Given the description of an element on the screen output the (x, y) to click on. 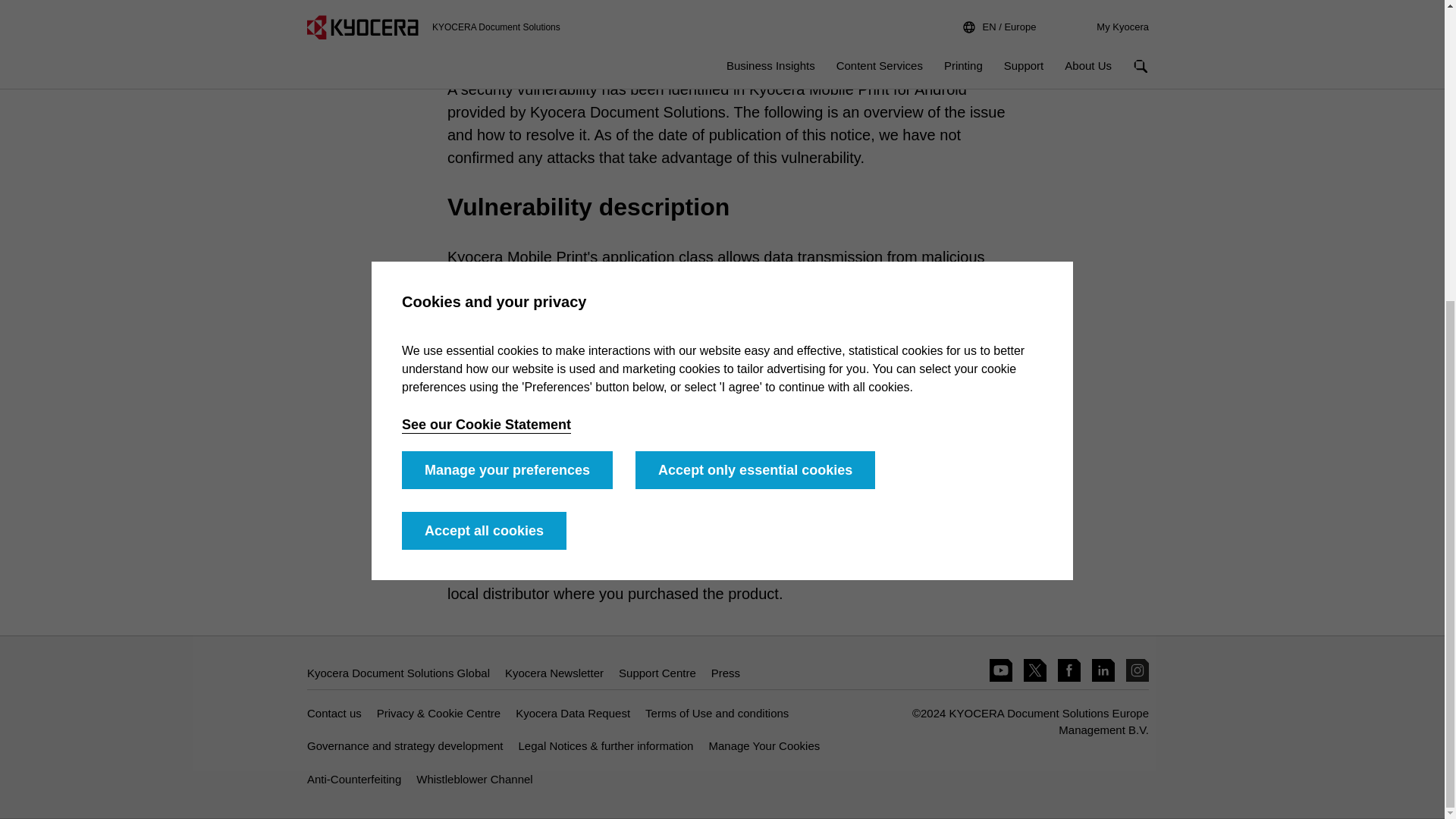
Kyocera Data Request (572, 712)
YouTube (1000, 670)
Support Centre (656, 673)
Manage Your Cookies (763, 746)
Facebook (1069, 670)
Contact us (334, 712)
Twitter (1034, 670)
Governance and strategy development (405, 746)
Terms of Use and conditions (717, 712)
Press (725, 673)
Instagram (1136, 670)
Kyocera Newsletter (554, 673)
LinkedIn (1103, 670)
Kyocera Document Solutions Global (398, 673)
